Given the description of an element on the screen output the (x, y) to click on. 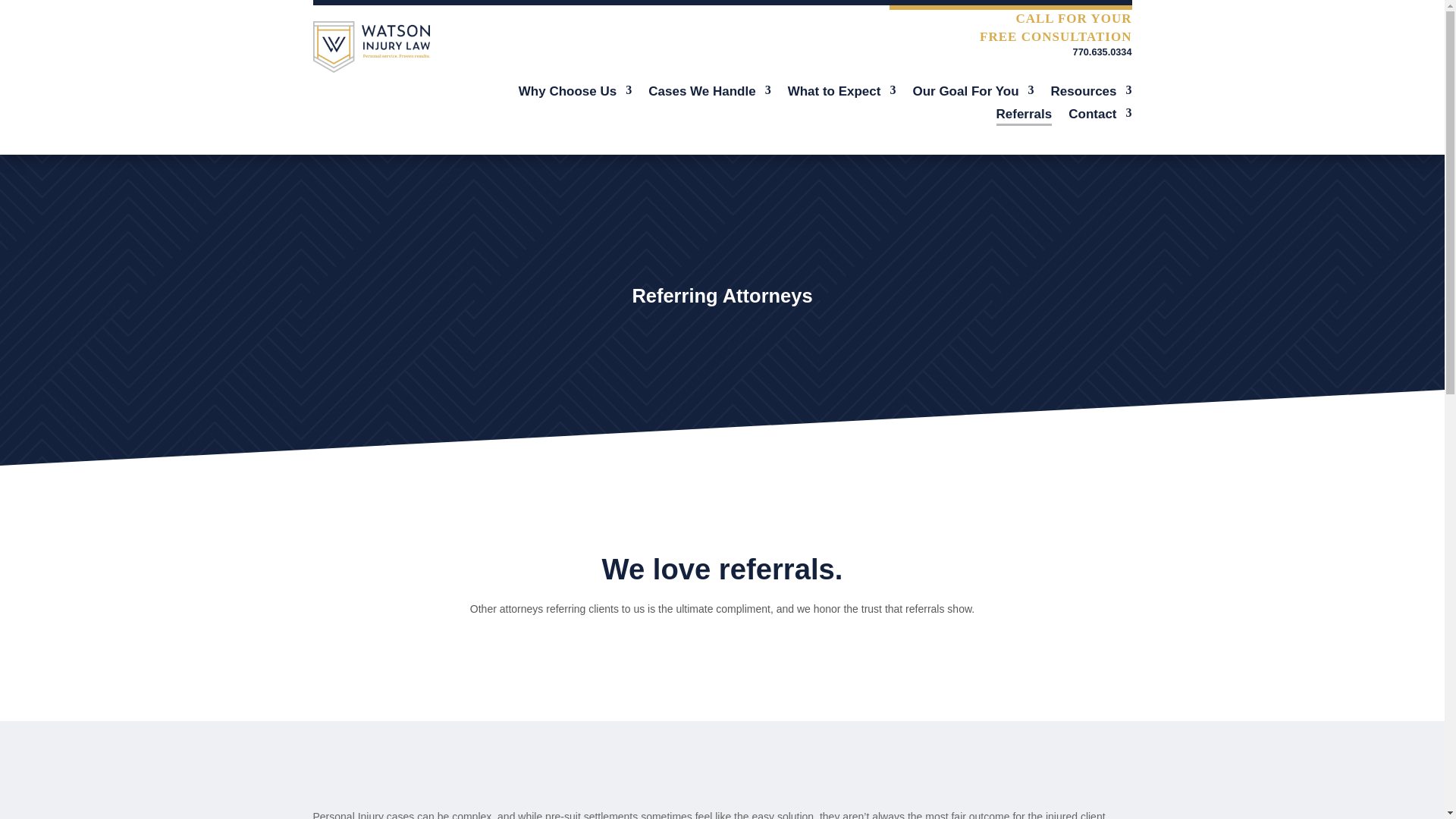
What to Expect (841, 94)
Our Goal For You (972, 94)
770.635.0334 (1102, 51)
Why Choose Us (574, 94)
Cases We Handle (708, 94)
